Given the description of an element on the screen output the (x, y) to click on. 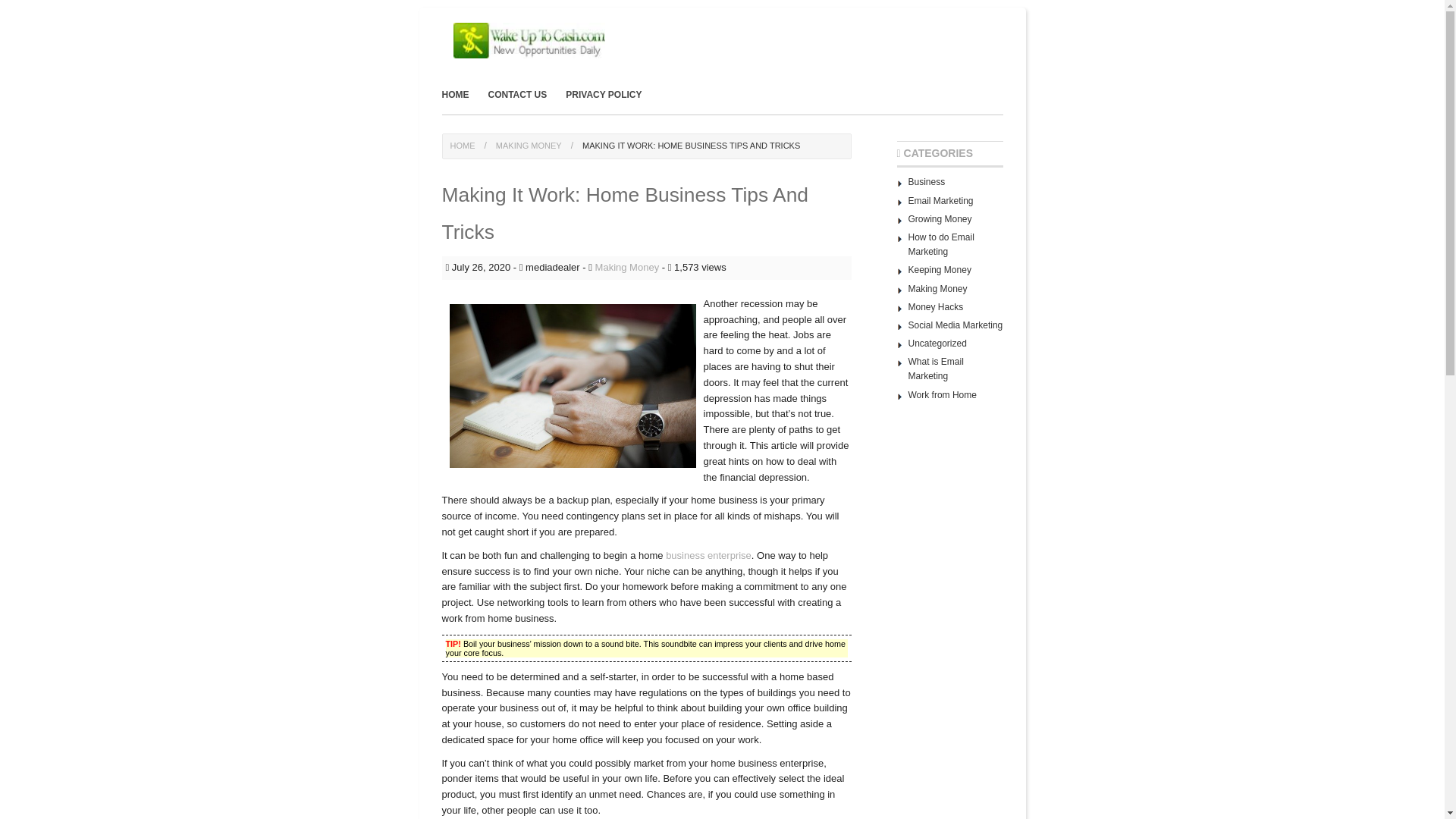
Making Money (938, 288)
MAKING IT WORK: HOME BUSINESS TIPS AND TRICKS (686, 144)
PRIVACY POLICY (601, 95)
Email Marketing (941, 200)
CONTACT US (515, 95)
Money Hacks (935, 307)
Keeping Money (939, 269)
Business (926, 181)
Want to Work From Home? (942, 394)
business enterprise (708, 555)
Growing Money (940, 218)
HOME (462, 144)
Work from Home (942, 394)
Uncategorized (937, 343)
